Given the description of an element on the screen output the (x, y) to click on. 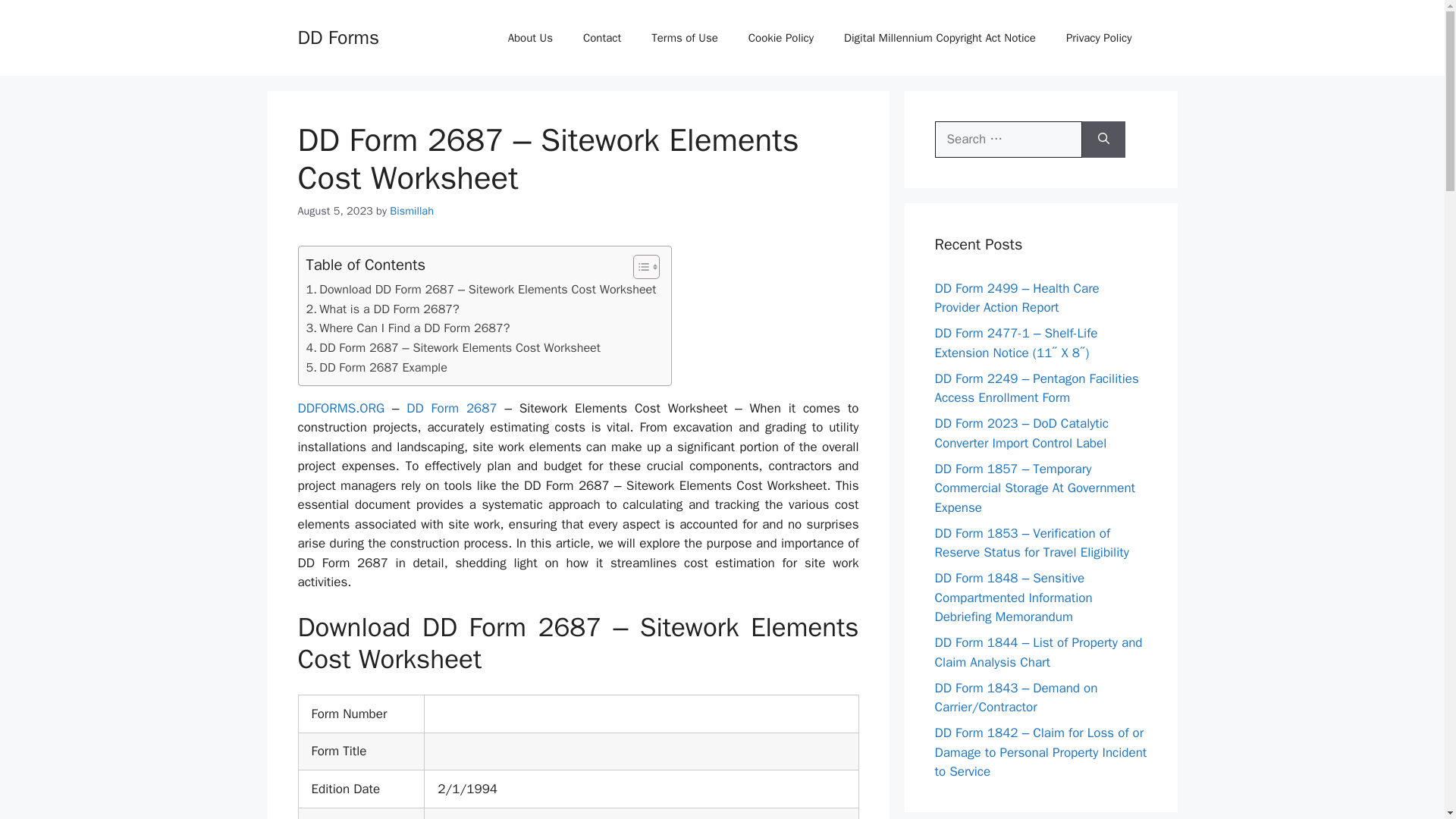
What is a DD Form 2687? (382, 309)
DD Forms (337, 37)
Bismillah (411, 210)
View all posts by Bismillah (411, 210)
Search for: (1007, 139)
Where Can I Find a DD Form 2687? (408, 328)
Digital Millennium Copyright Act Notice (939, 37)
Privacy Policy (1099, 37)
 DD Form 2687 (447, 408)
About Us (530, 37)
What is a DD Form 2687? (382, 309)
DD Form 2687 Example (375, 367)
DDFORMS.ORG (340, 408)
Terms of Use (684, 37)
Contact (601, 37)
